Given the description of an element on the screen output the (x, y) to click on. 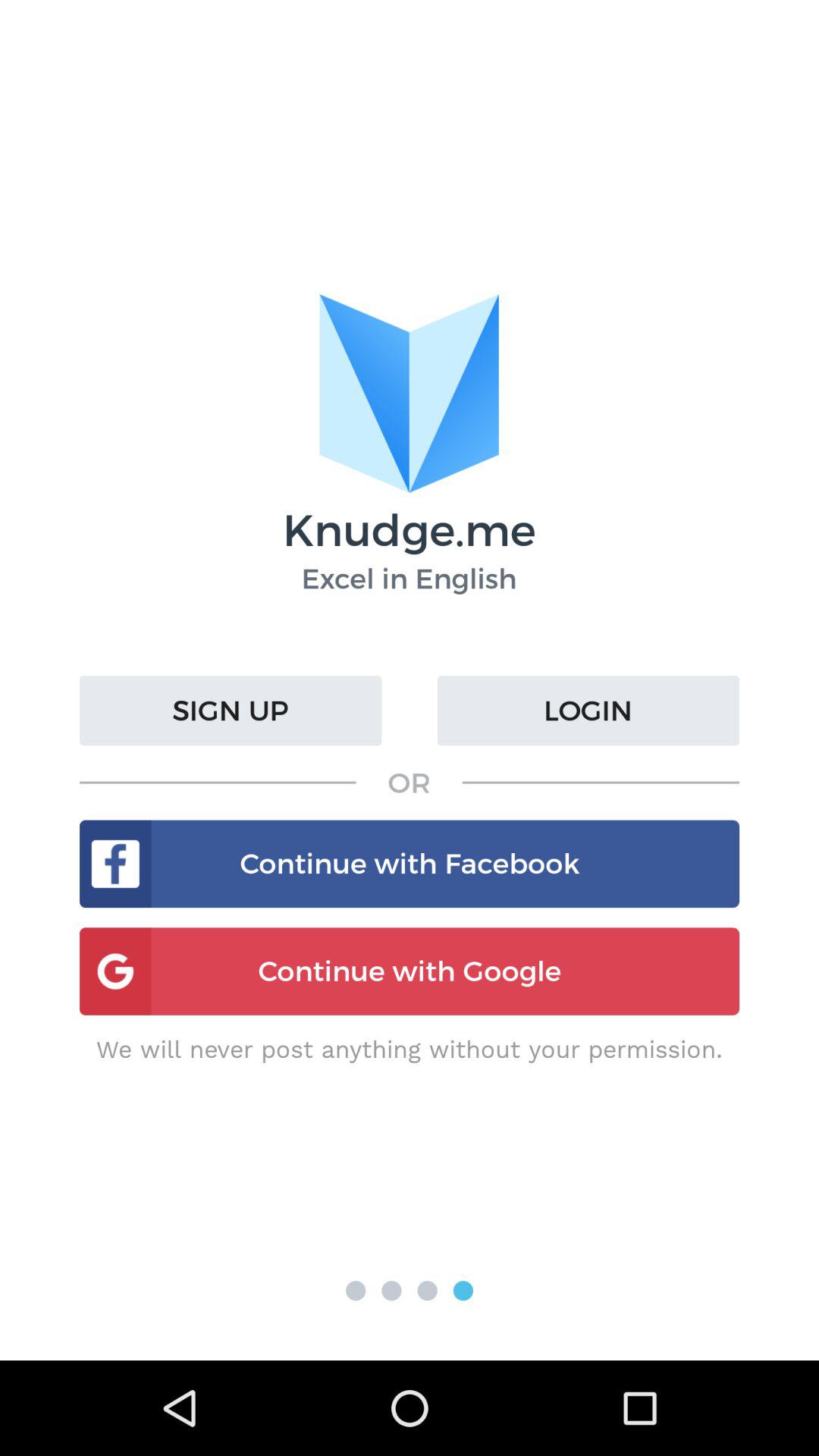
press item below excel in english item (588, 710)
